Given the description of an element on the screen output the (x, y) to click on. 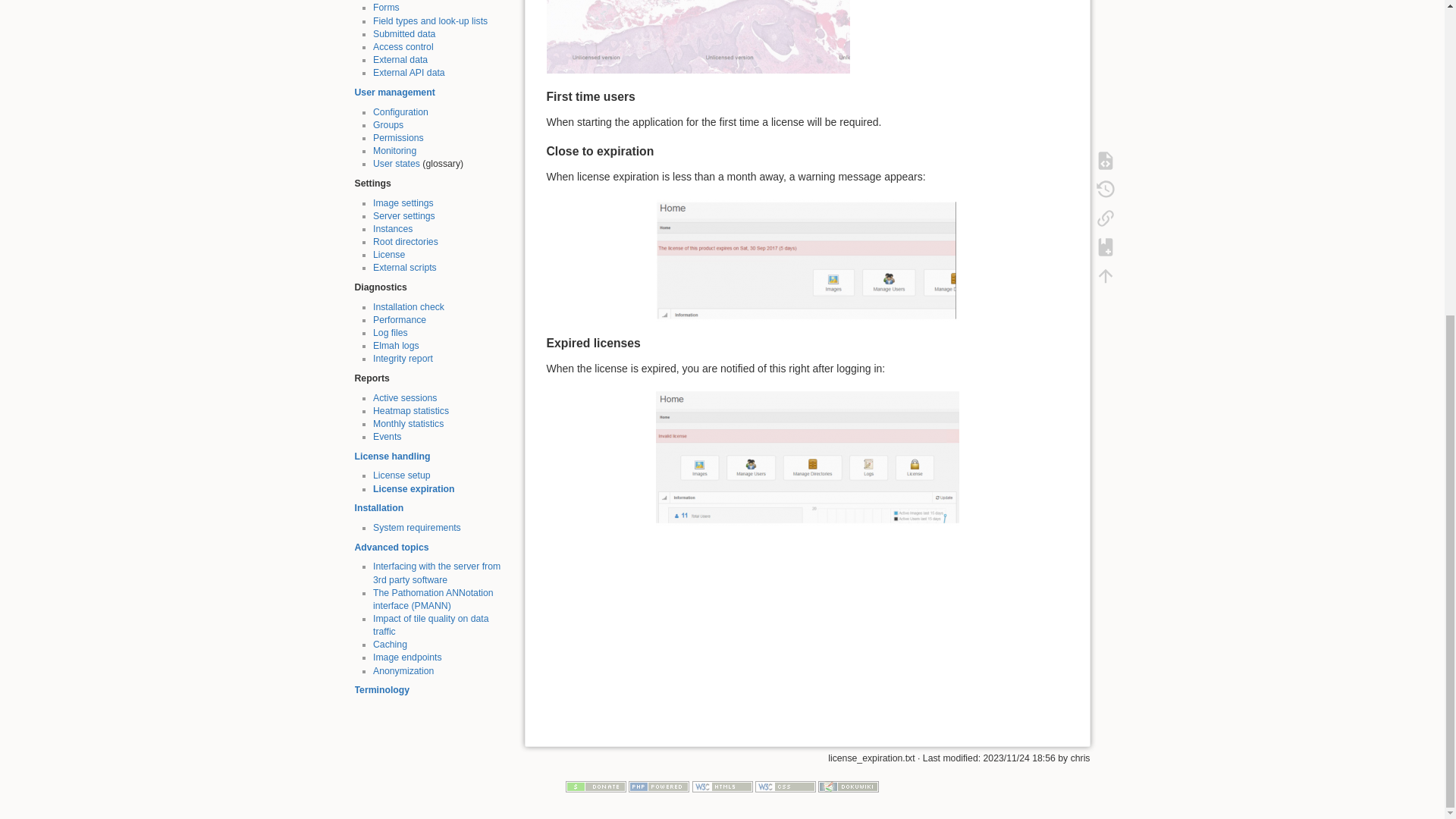
Field types and look-up lists (429, 20)
External data (400, 59)
Forms (385, 7)
Submitted data (403, 33)
Access control (402, 46)
